Given the description of an element on the screen output the (x, y) to click on. 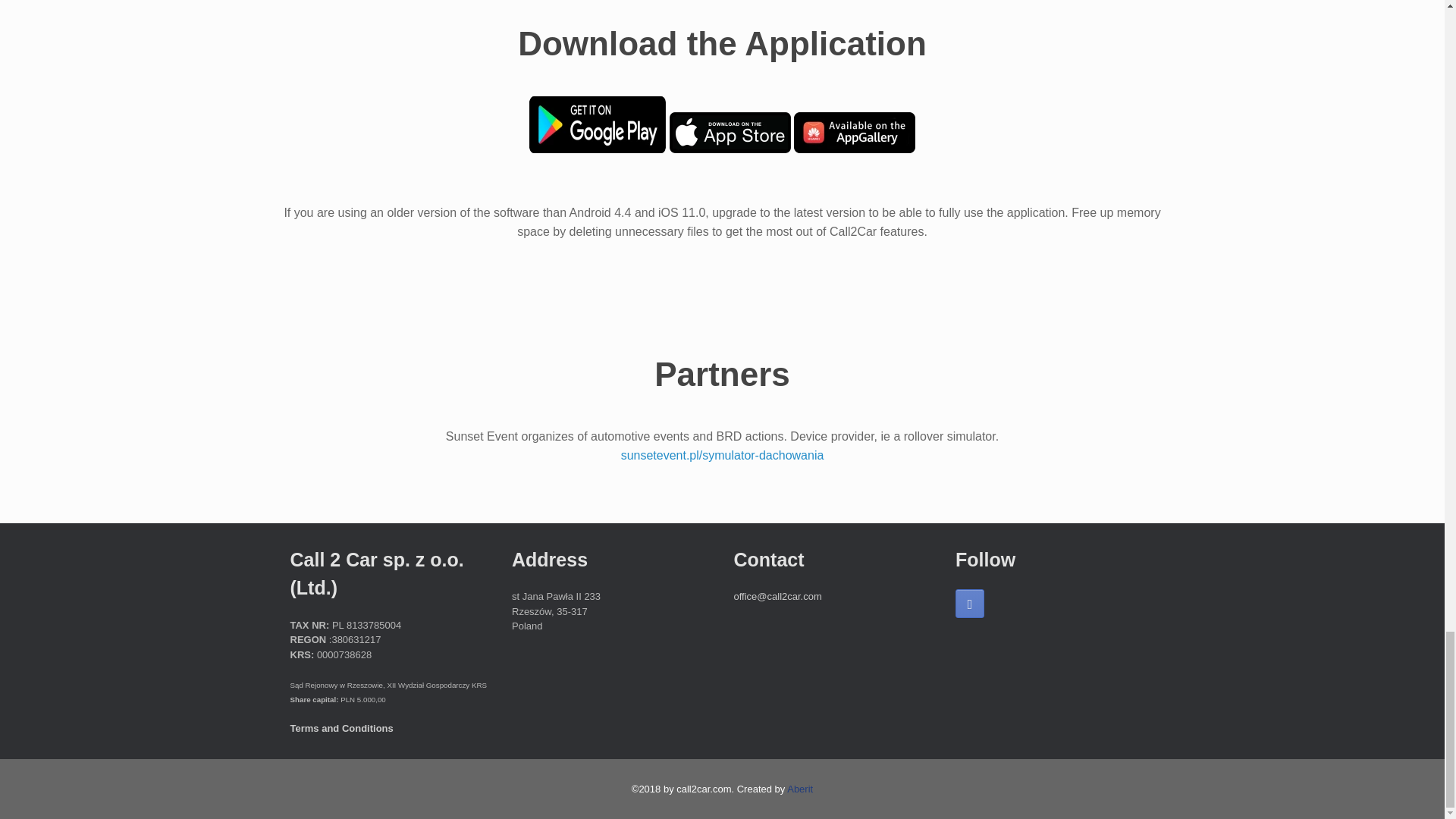
Aberit (799, 788)
Dedykowane systemy CRM (799, 788)
Terms and Conditions (341, 727)
 Facebook (969, 603)
